Given the description of an element on the screen output the (x, y) to click on. 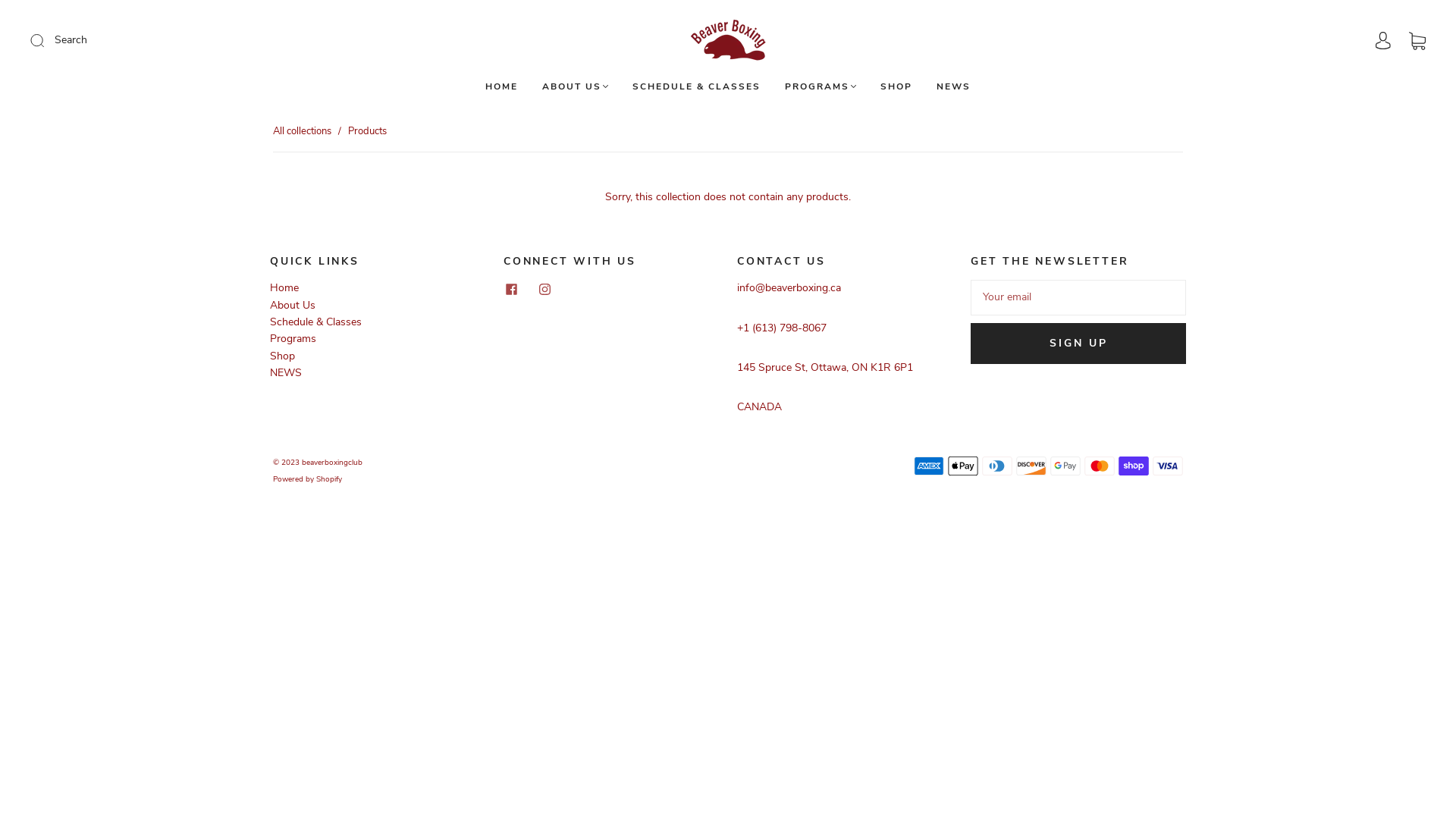
SHOP Element type: text (896, 86)
Home Element type: text (283, 287)
SIGN UP Element type: text (1078, 343)
Powered by Shopify Element type: text (307, 478)
Shop Element type: text (281, 355)
(613) 798-8067 Element type: text (789, 327)
NEWS Element type: text (953, 86)
About Us Element type: text (292, 305)
All collections Element type: text (302, 131)
beaverboxingclub Element type: text (331, 462)
Schedule & Classes Element type: text (315, 321)
ABOUT US Element type: text (575, 86)
HOME Element type: text (501, 86)
PROGRAMS Element type: text (820, 86)
SCHEDULE & CLASSES Element type: text (696, 86)
NEWS Element type: text (285, 372)
Programs Element type: text (292, 338)
